Given the description of an element on the screen output the (x, y) to click on. 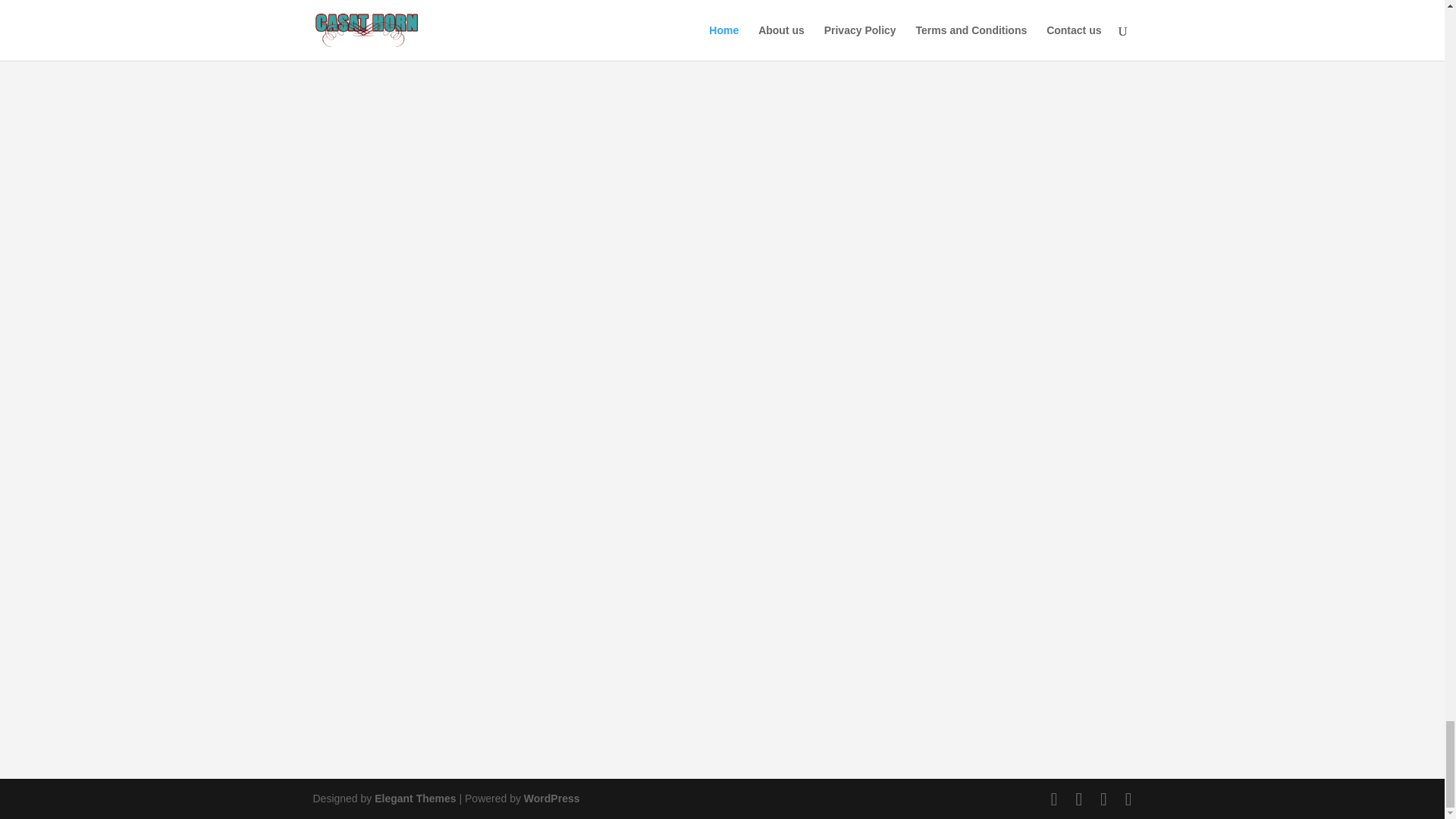
Premium WordPress Themes (414, 798)
Elegant Themes (414, 798)
WordPress (551, 798)
